Given the description of an element on the screen output the (x, y) to click on. 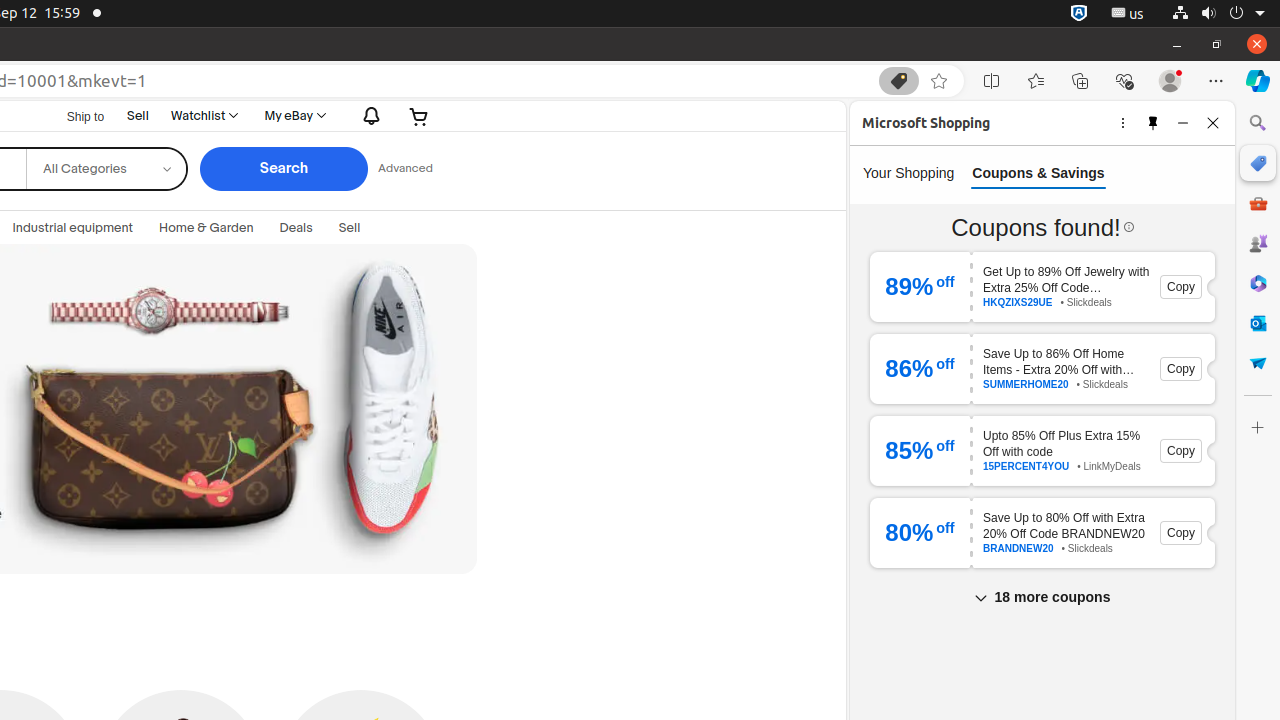
Browser essentials Element type: push-button (1124, 81)
My eBay Element type: link (294, 115)
Your Shopping Element type: page-tab (909, 173)
Industrial equipment Element type: link (73, 228)
Collections Element type: push-button (1080, 81)
